Given the description of an element on the screen output the (x, y) to click on. 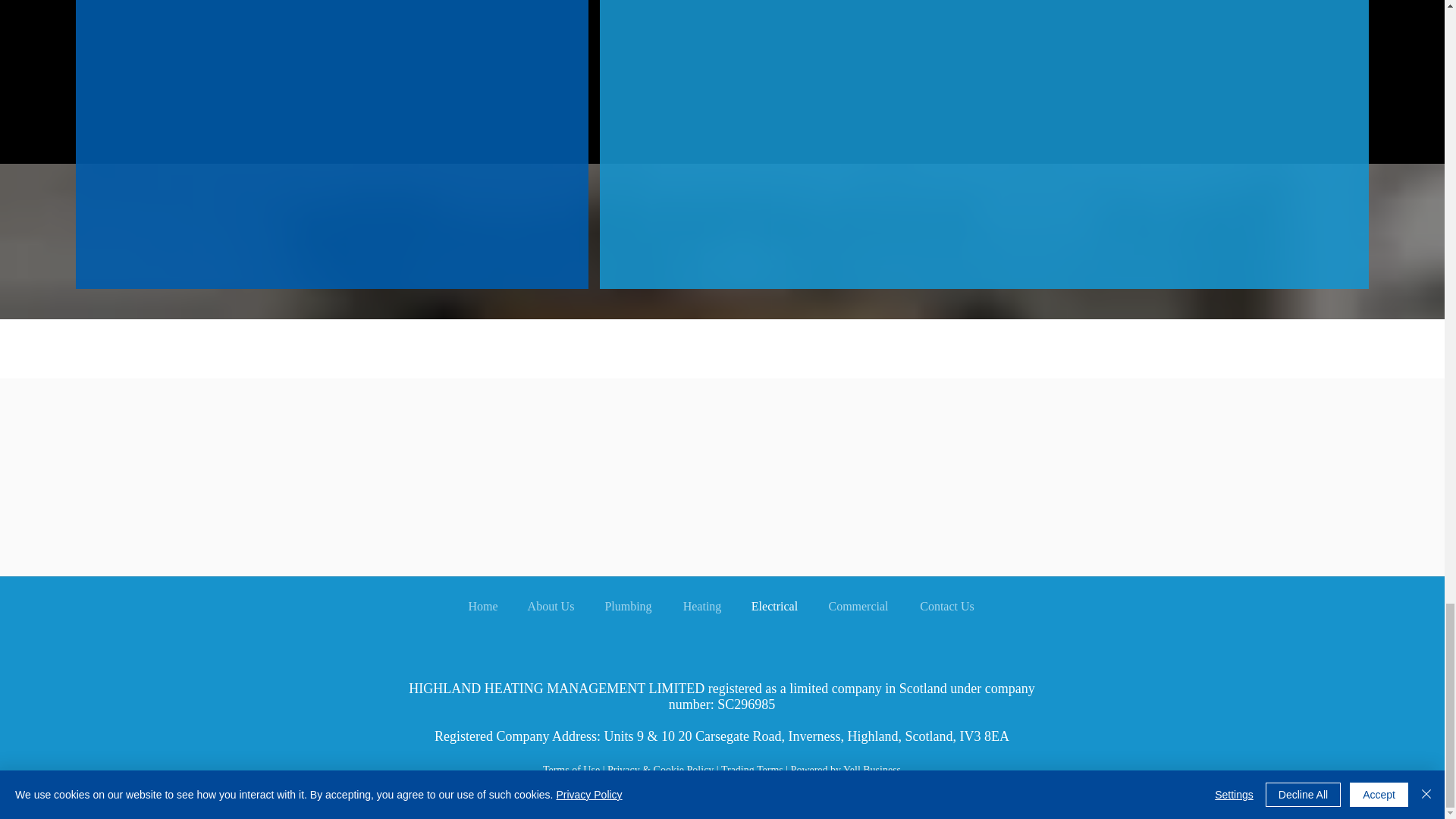
Home (482, 606)
About Us (550, 606)
